Given the description of an element on the screen output the (x, y) to click on. 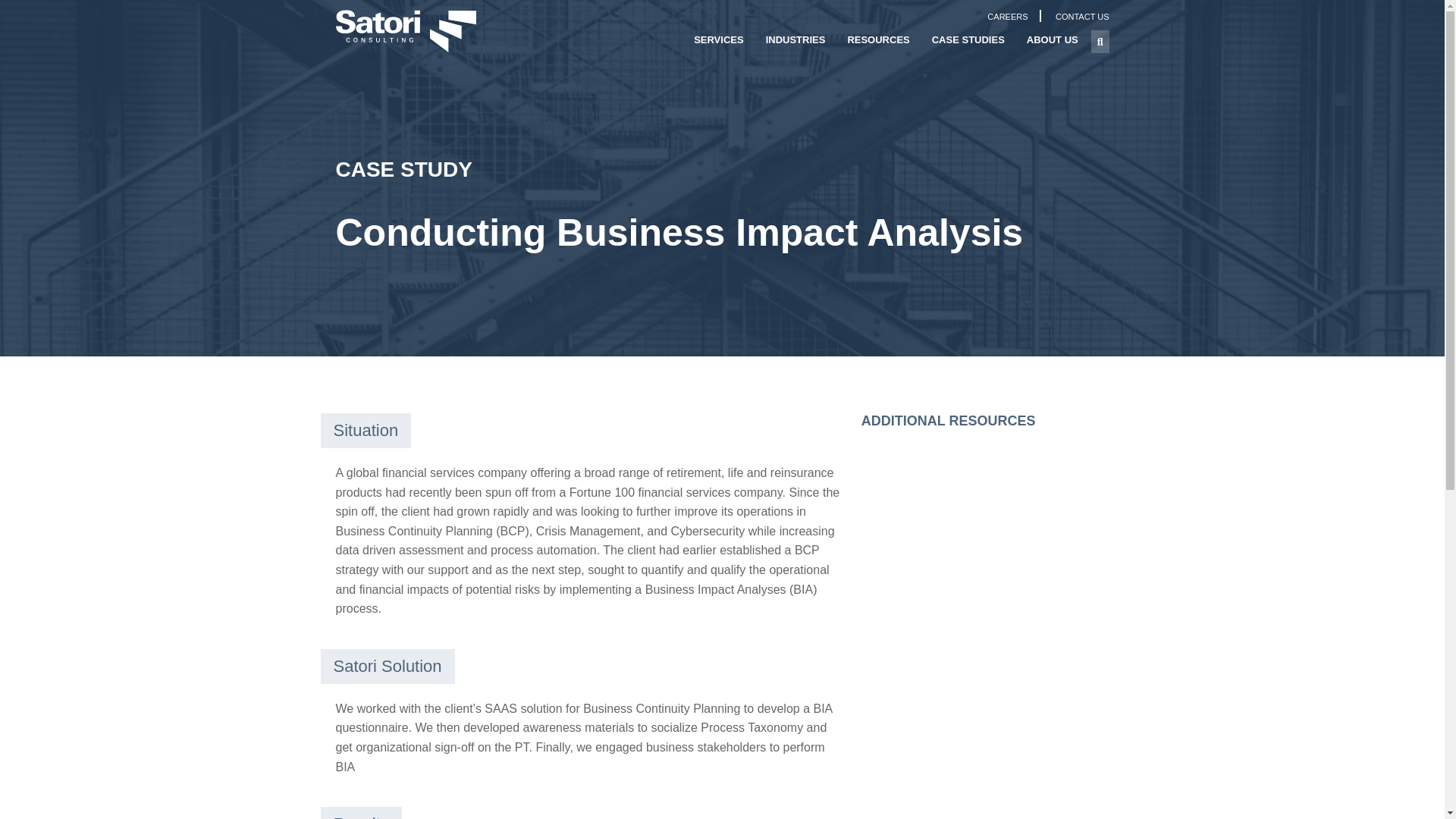
CONTACT US (1082, 16)
CAREERS (1007, 16)
ABOUT US (1052, 40)
RESOURCES (878, 40)
SERVICES (718, 40)
CASE STUDIES (968, 40)
INDUSTRIES (795, 40)
